Given the description of an element on the screen output the (x, y) to click on. 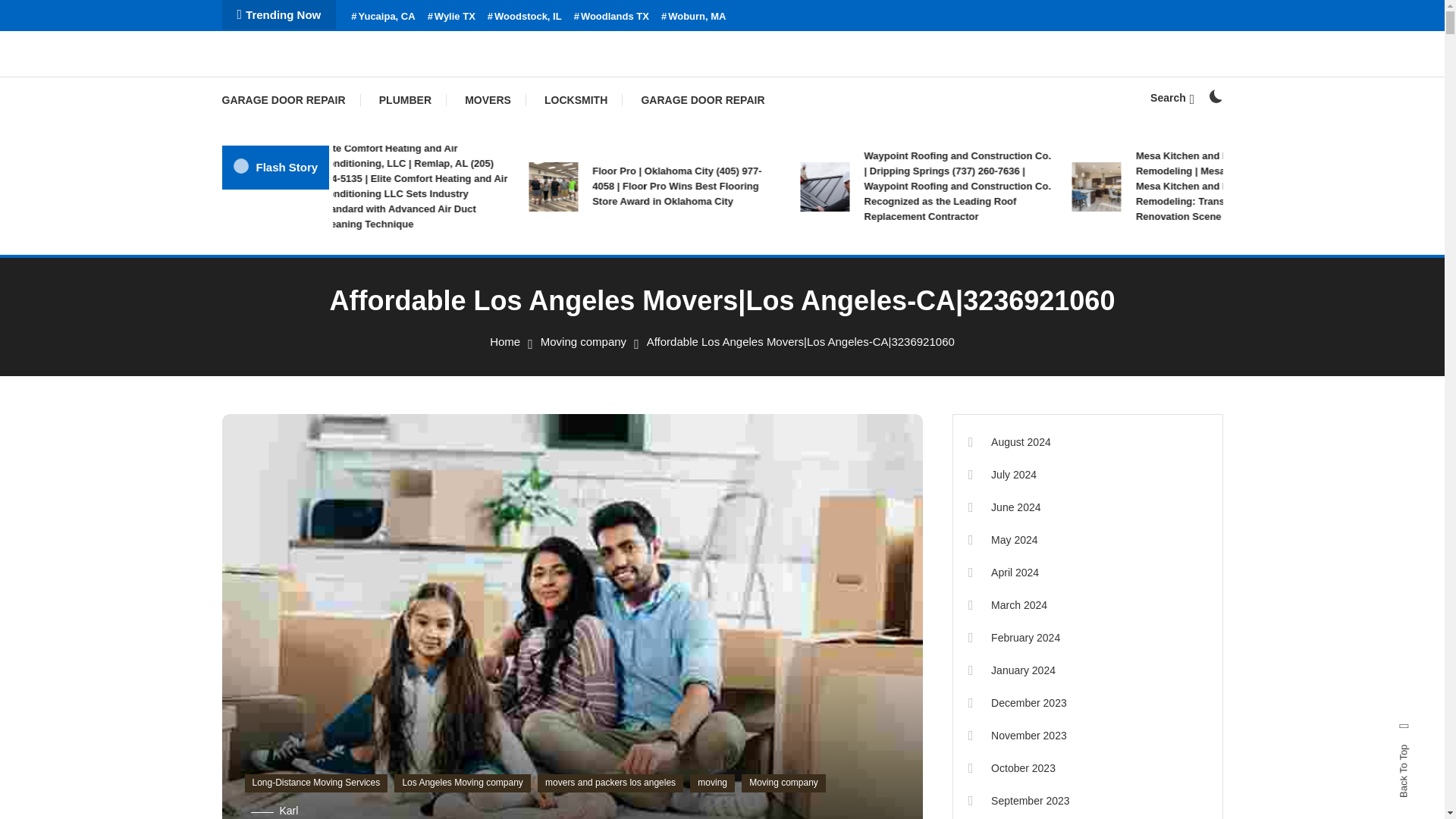
Search (1171, 97)
PLUMBER (405, 99)
moving (712, 782)
Woodstock, IL (524, 16)
Yucaipa, CA (382, 16)
GARAGE DOOR REPAIR (290, 99)
movers and packers los angeles (609, 782)
on (1215, 96)
Wylie TX (452, 16)
MOVERS (487, 99)
